Given the description of an element on the screen output the (x, y) to click on. 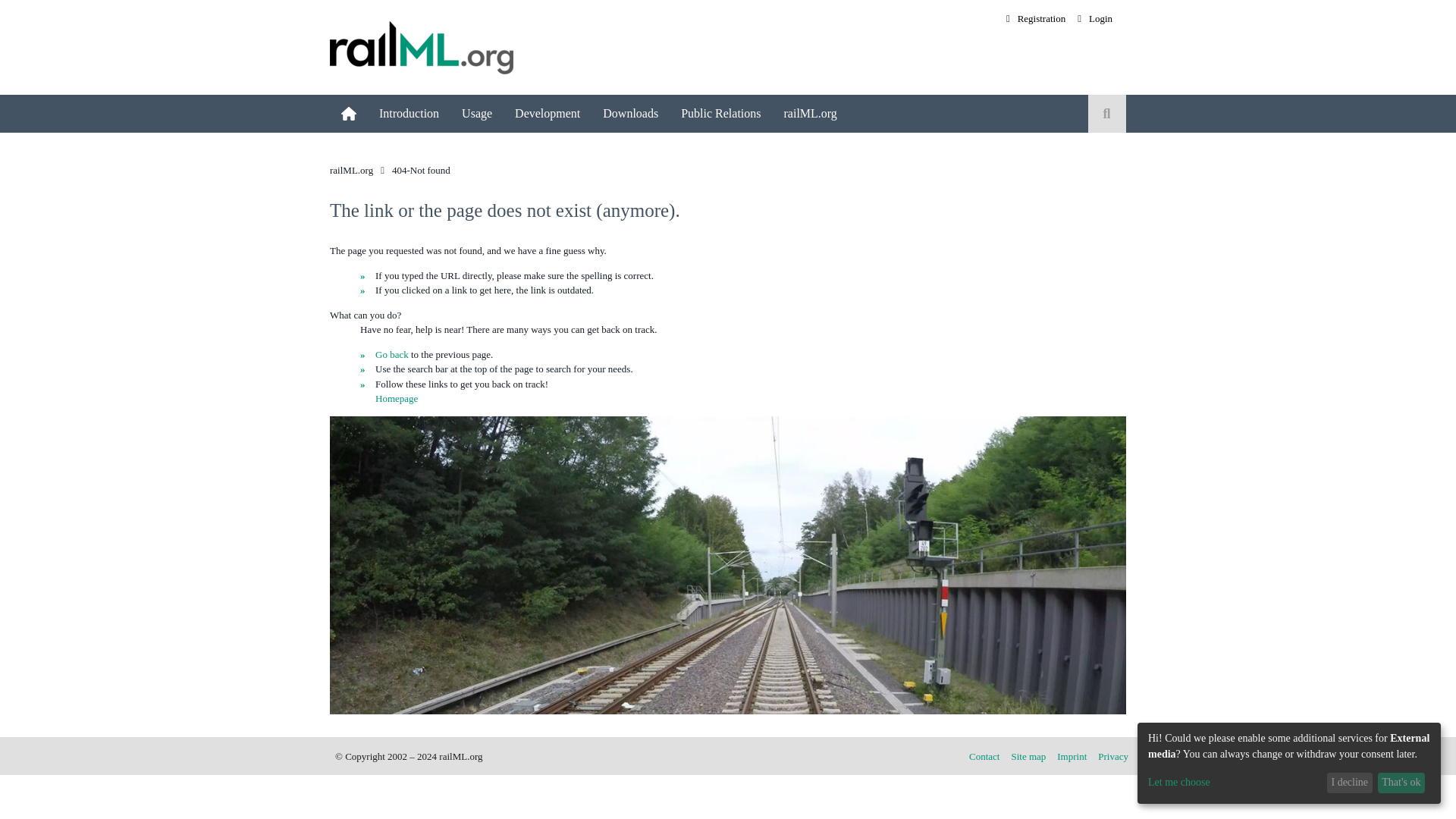
Navigate to home page (421, 47)
User (476, 113)
Development (547, 113)
Login (1094, 18)
Skip navigation (1004, 11)
Registration (1035, 18)
Introduction (408, 113)
Home (349, 113)
Introduction (408, 113)
Home (349, 113)
Downloads (630, 113)
Registration (1035, 18)
Usage (476, 113)
Login (1094, 18)
